Given the description of an element on the screen output the (x, y) to click on. 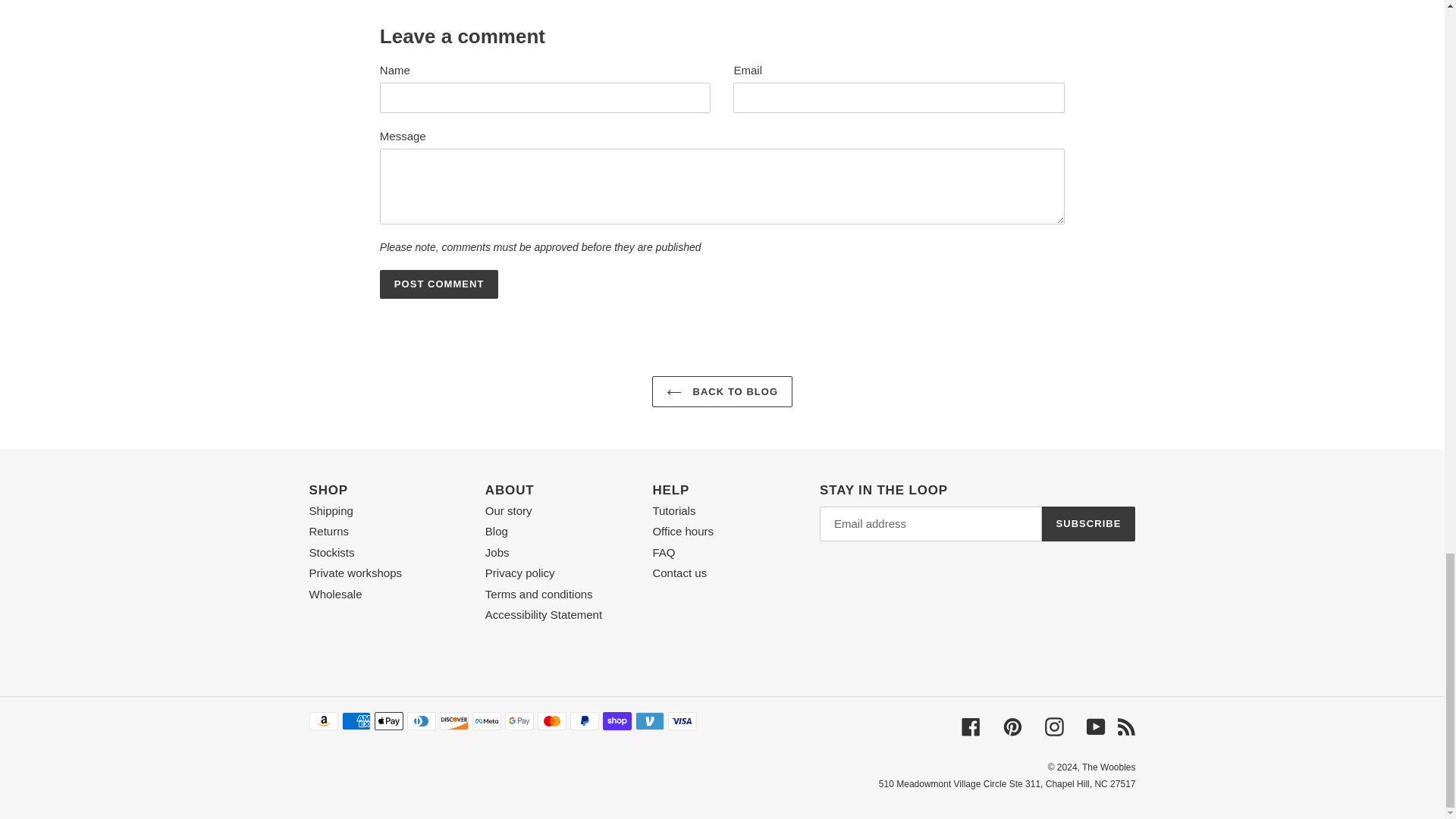
Post comment (439, 284)
Diners Club (420, 720)
Shop Pay (616, 720)
Amazon (322, 720)
Google Pay (519, 720)
American Express (354, 720)
Meta Pay (485, 720)
Discover (453, 720)
Mastercard (551, 720)
PayPal (584, 720)
